Given the description of an element on the screen output the (x, y) to click on. 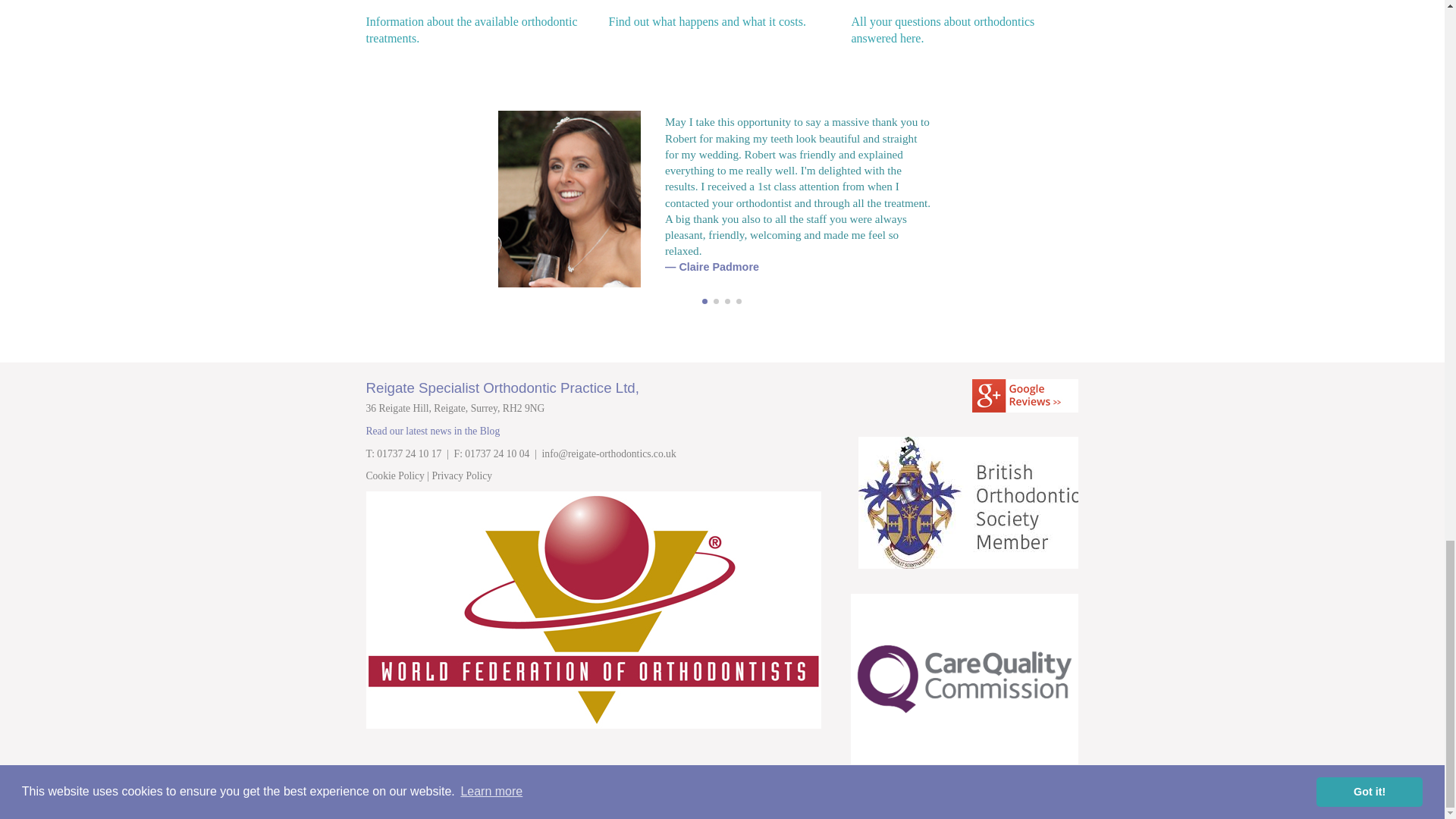
Read our latest news in the Blog (432, 430)
Designed by Knibbs (721, 15)
Cookie Policy (1038, 794)
Privacy Policy (394, 475)
